Given the description of an element on the screen output the (x, y) to click on. 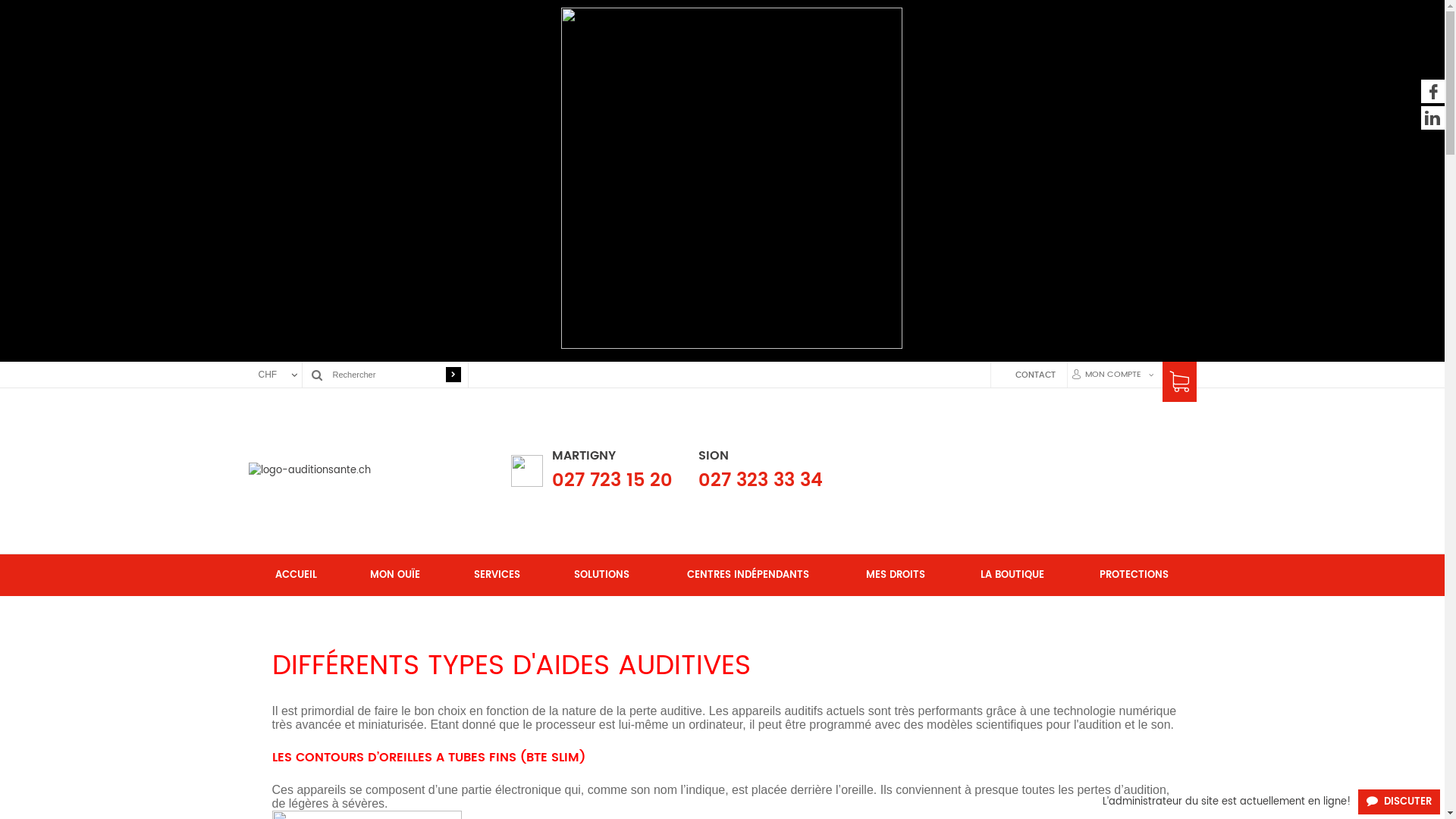
SERVICES Element type: text (497, 575)
ACCUEIL Element type: text (295, 575)
linkedin Element type: text (1432, 117)
MES DROITS Element type: text (895, 575)
MON COMPTE Element type: text (1110, 374)
PROTECTIONS Element type: text (1133, 575)
LA BOUTIQUE Element type: text (1012, 575)
facebook Element type: text (1432, 91)
CONTACT Element type: text (1022, 374)
SOLUTIONS Element type: text (601, 575)
> Element type: text (453, 374)
Mon
Panier Element type: text (1178, 387)
